Given the description of an element on the screen output the (x, y) to click on. 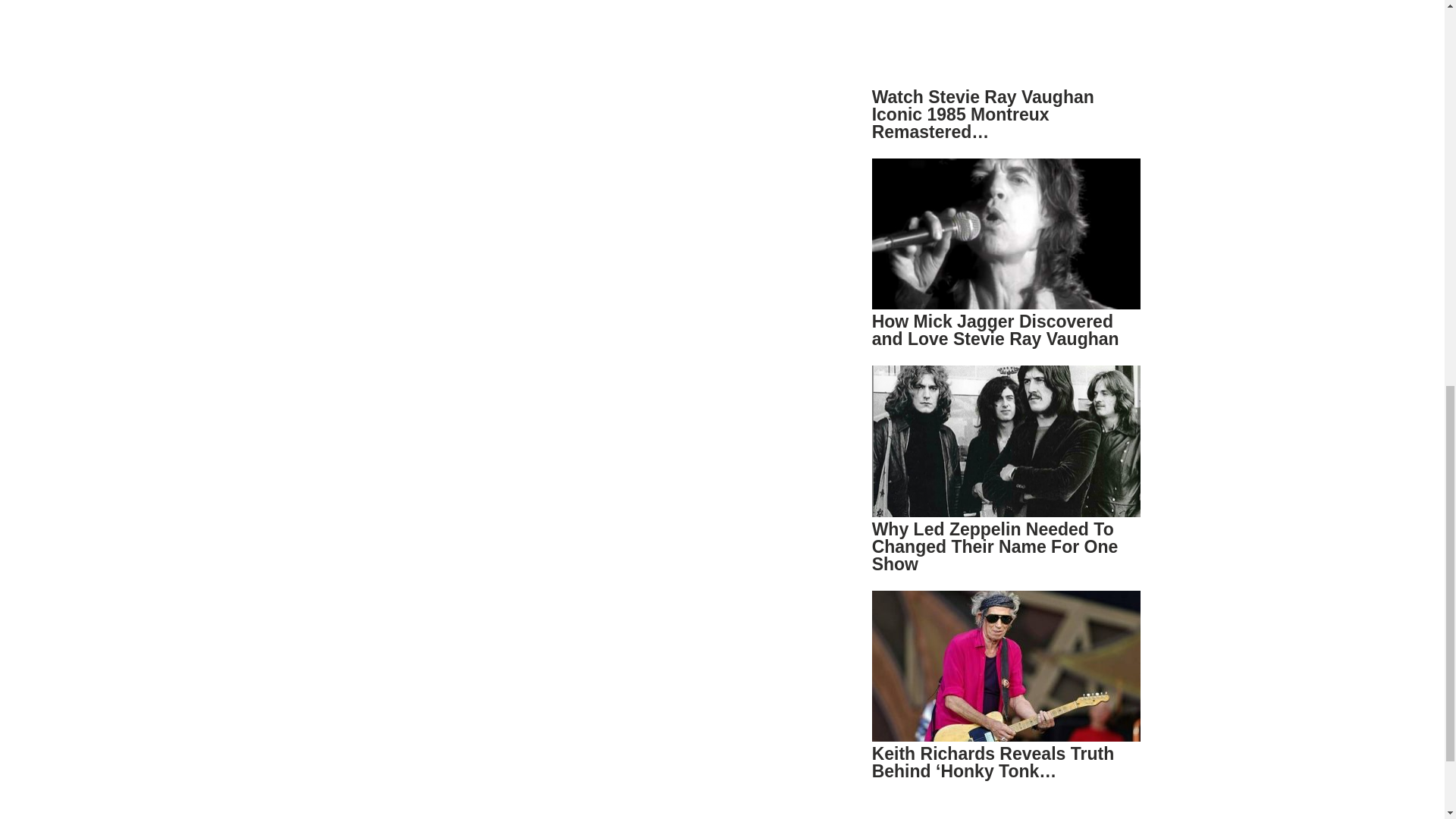
How Mick Jagger Discovered and Love Stevie Ray Vaughan (995, 330)
Why Led Zeppelin Needed To Changed Their Name For One Show (995, 546)
